Given the description of an element on the screen output the (x, y) to click on. 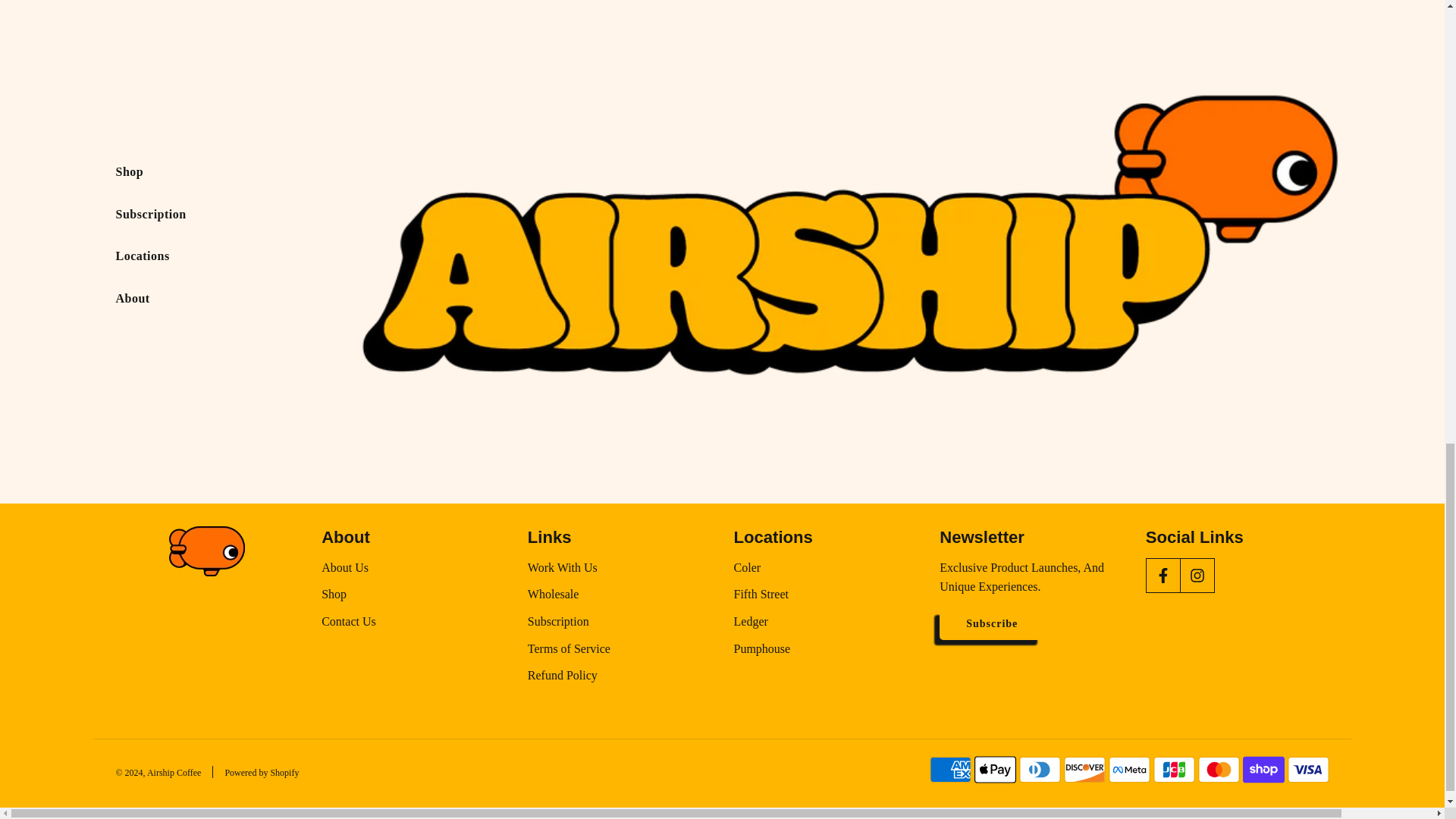
onetime (780, 305)
1 (796, 185)
subscription (780, 233)
